Given the description of an element on the screen output the (x, y) to click on. 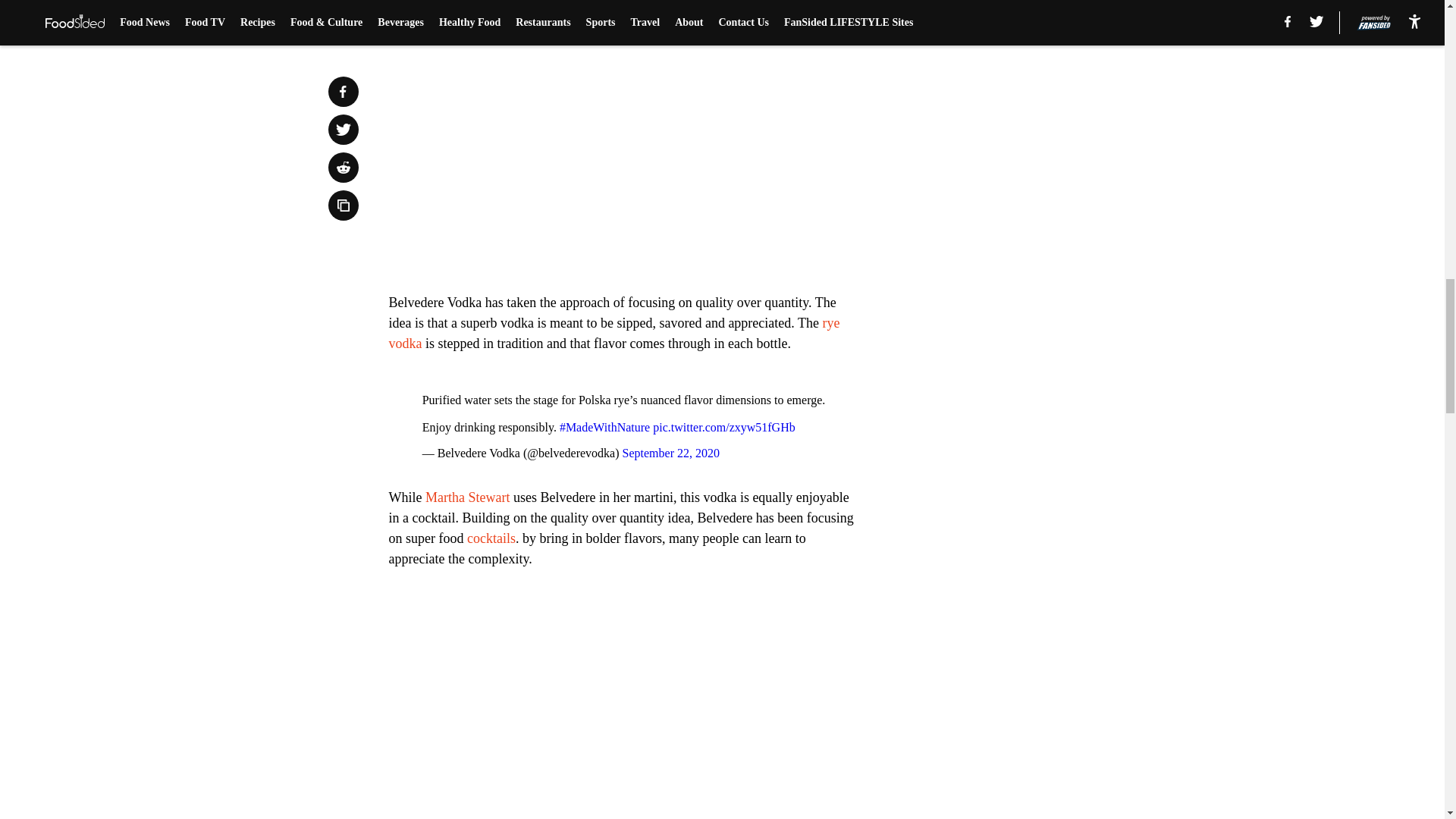
Martha Stewart (467, 497)
cocktails (491, 538)
September 22, 2020 (671, 452)
rye vodka (614, 333)
